Given the description of an element on the screen output the (x, y) to click on. 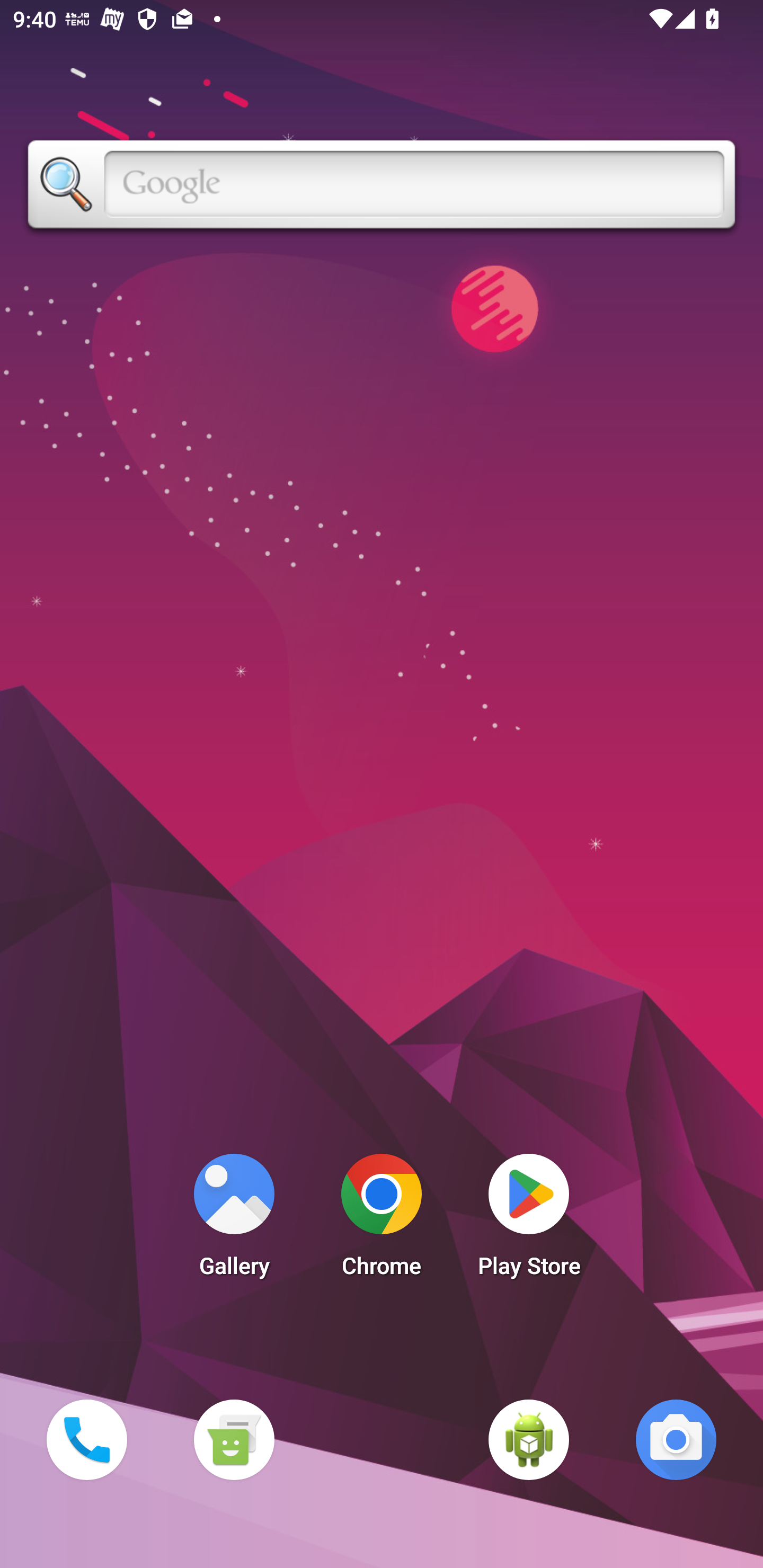
Gallery (233, 1220)
Chrome (381, 1220)
Play Store (528, 1220)
Phone (86, 1439)
Messaging (233, 1439)
WebView Browser Tester (528, 1439)
Camera (676, 1439)
